Given the description of an element on the screen output the (x, y) to click on. 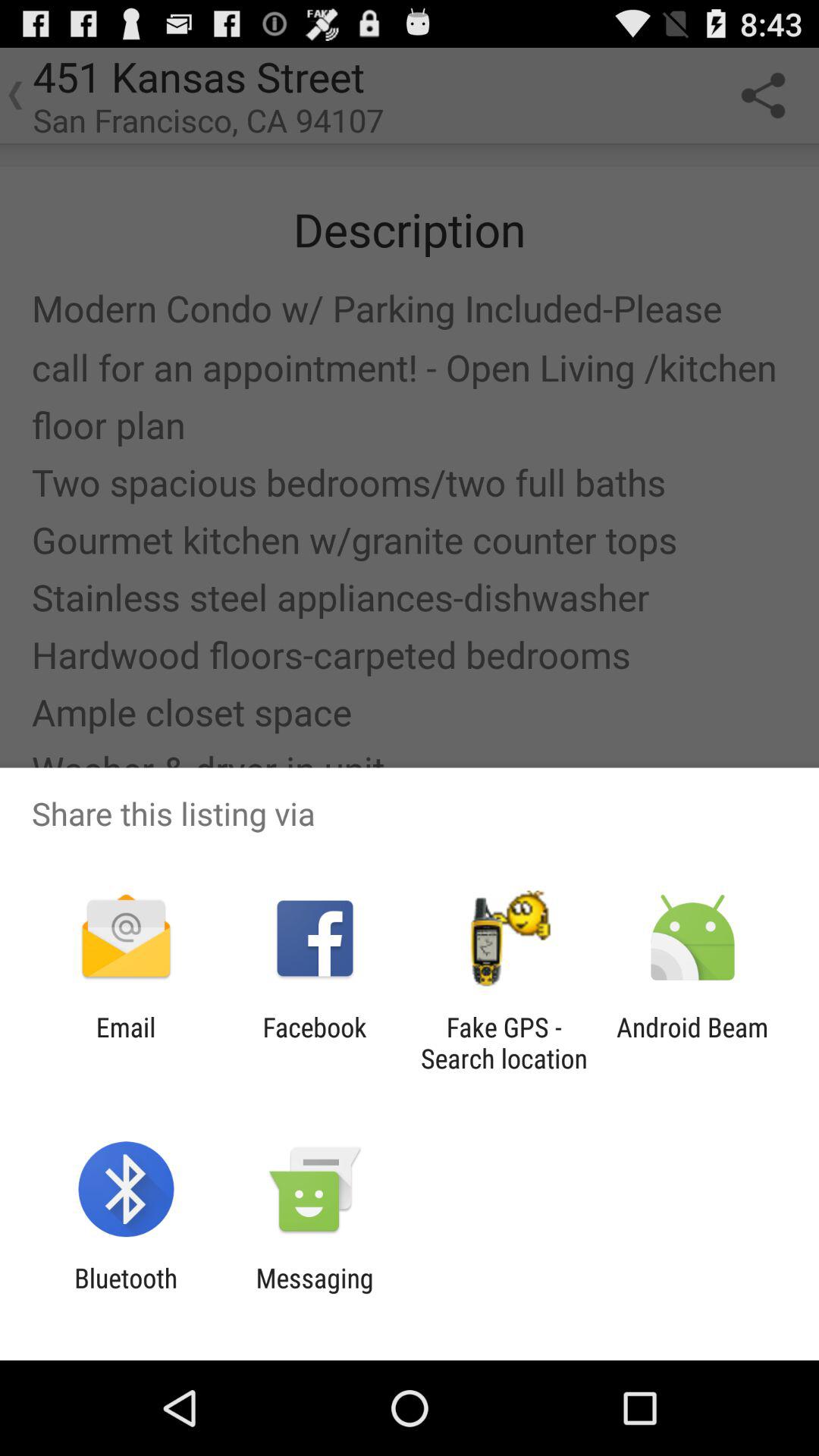
launch the icon at the bottom right corner (692, 1042)
